Given the description of an element on the screen output the (x, y) to click on. 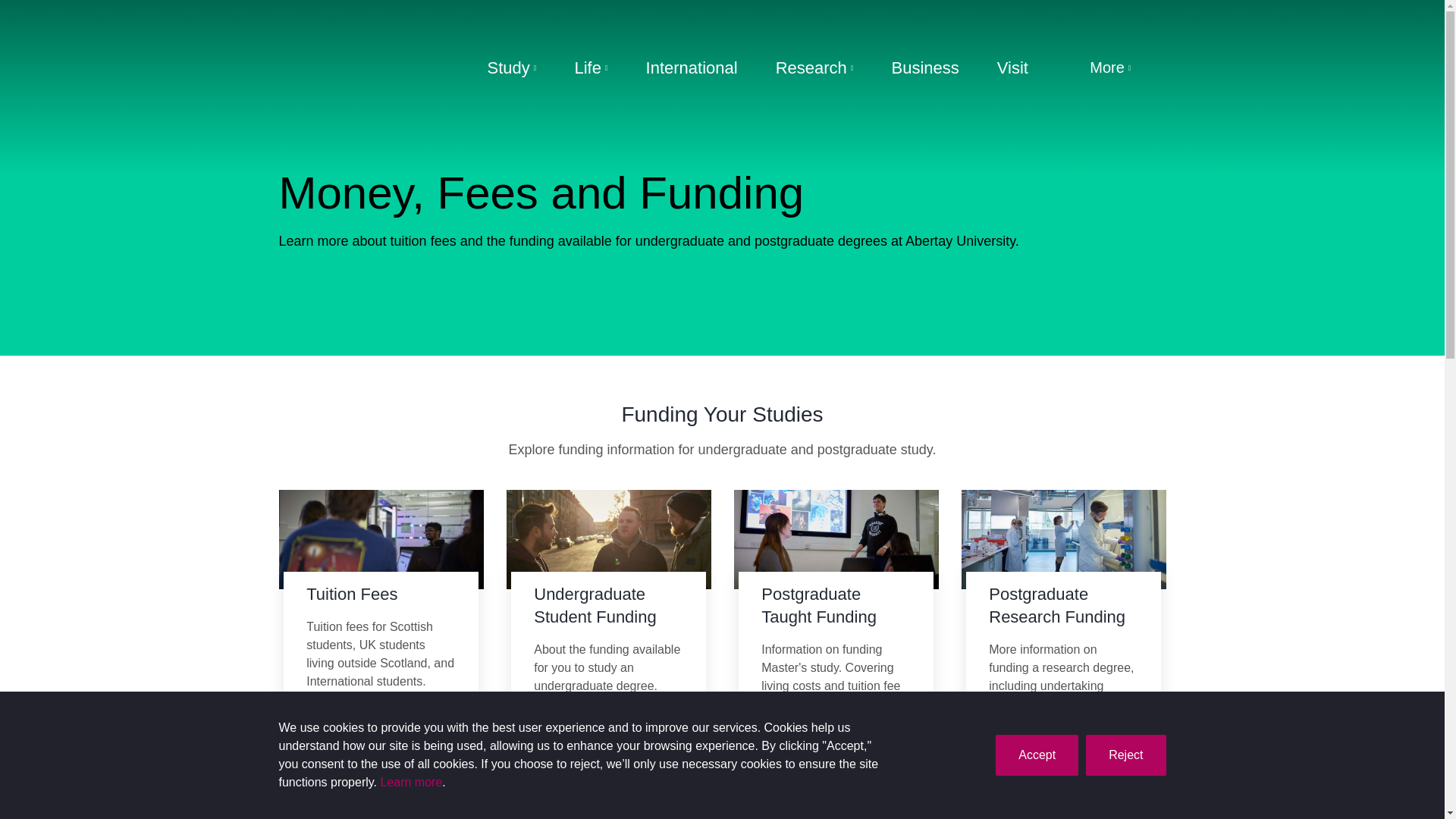
Life (590, 68)
Study (510, 68)
Cookies (411, 782)
